Given the description of an element on the screen output the (x, y) to click on. 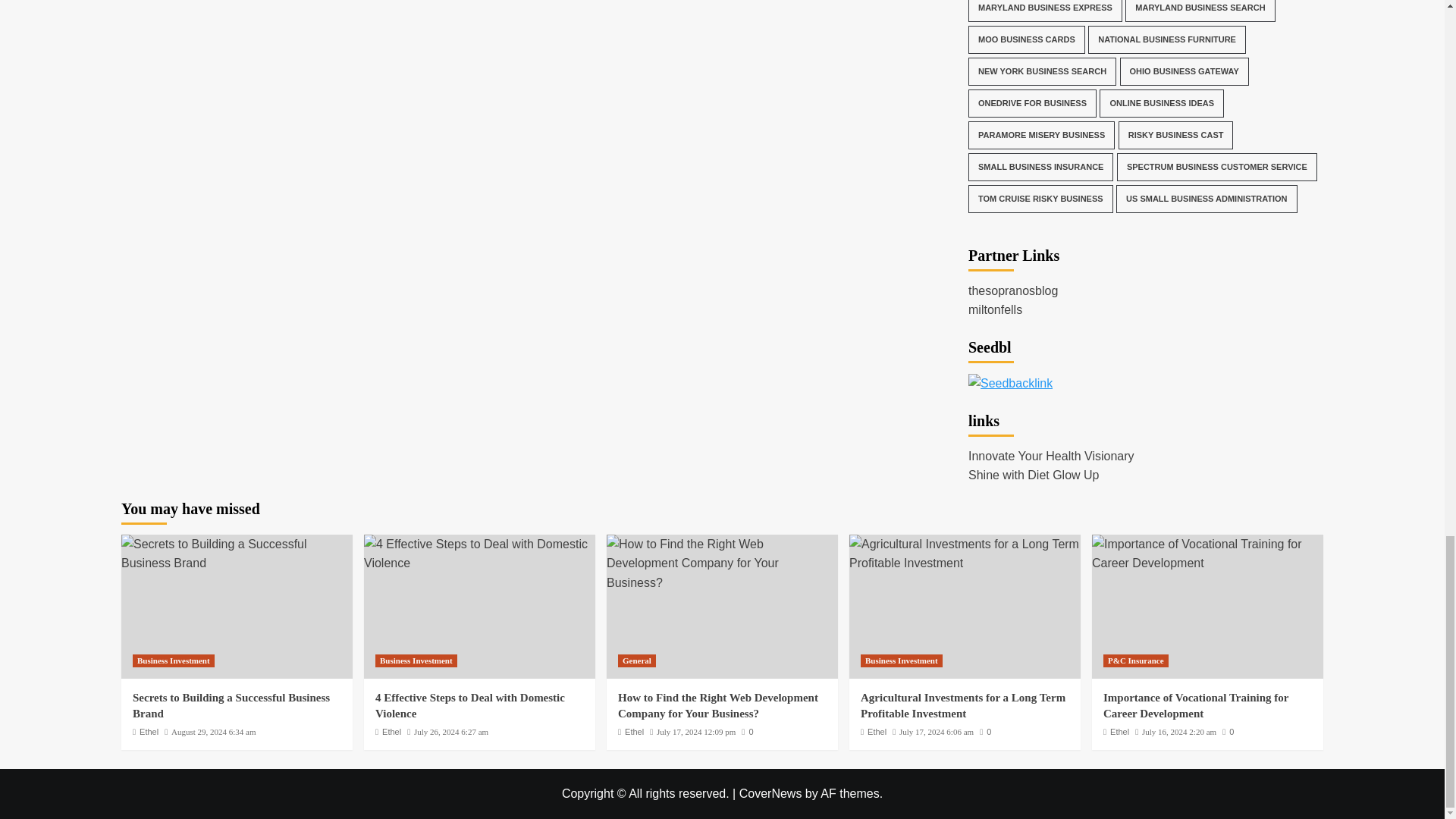
Seedbacklink (1010, 383)
4 Effective Steps to Deal with Domestic Violence (479, 553)
Secrets to Building a Successful Business Brand (236, 553)
